Given the description of an element on the screen output the (x, y) to click on. 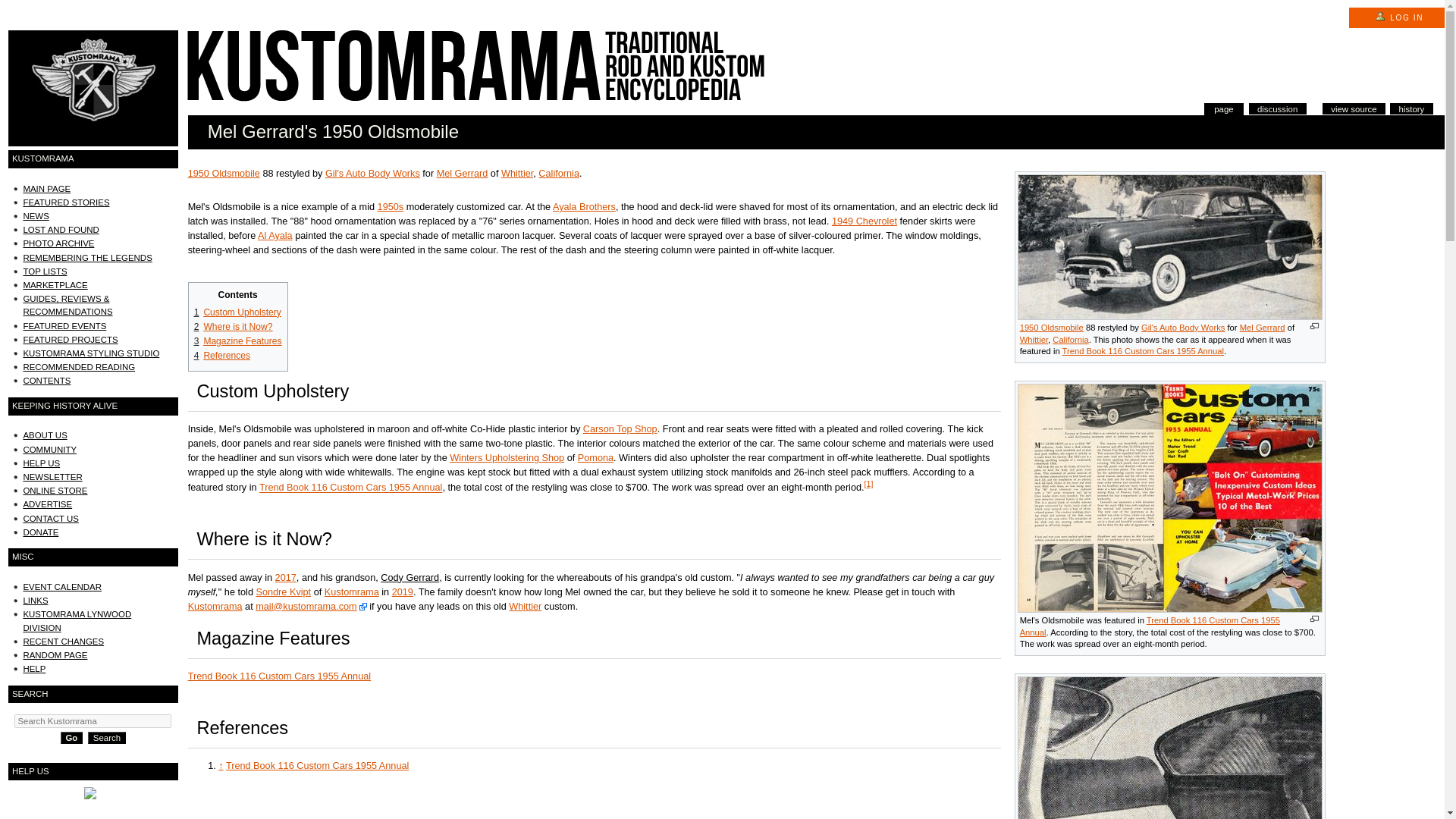
Mel Gerrard (461, 173)
1950 Oldsmobile (223, 173)
Mel Gerrard (1262, 327)
Carson Top Shop (620, 429)
Trend Book 116 Custom Cars 1955 Annual (350, 488)
Search (106, 737)
Trend Book 116 Custom Cars 1955 Annual (1149, 626)
Al Ayala (274, 235)
Go (71, 737)
California (1069, 338)
Pomona (595, 457)
Gil's Auto Body Works (1182, 327)
1949 Chevrolet (863, 221)
2 Where is it Now? (233, 326)
Trend Book 116 Custom Cars 1955 Annual (1143, 350)
